Given the description of an element on the screen output the (x, y) to click on. 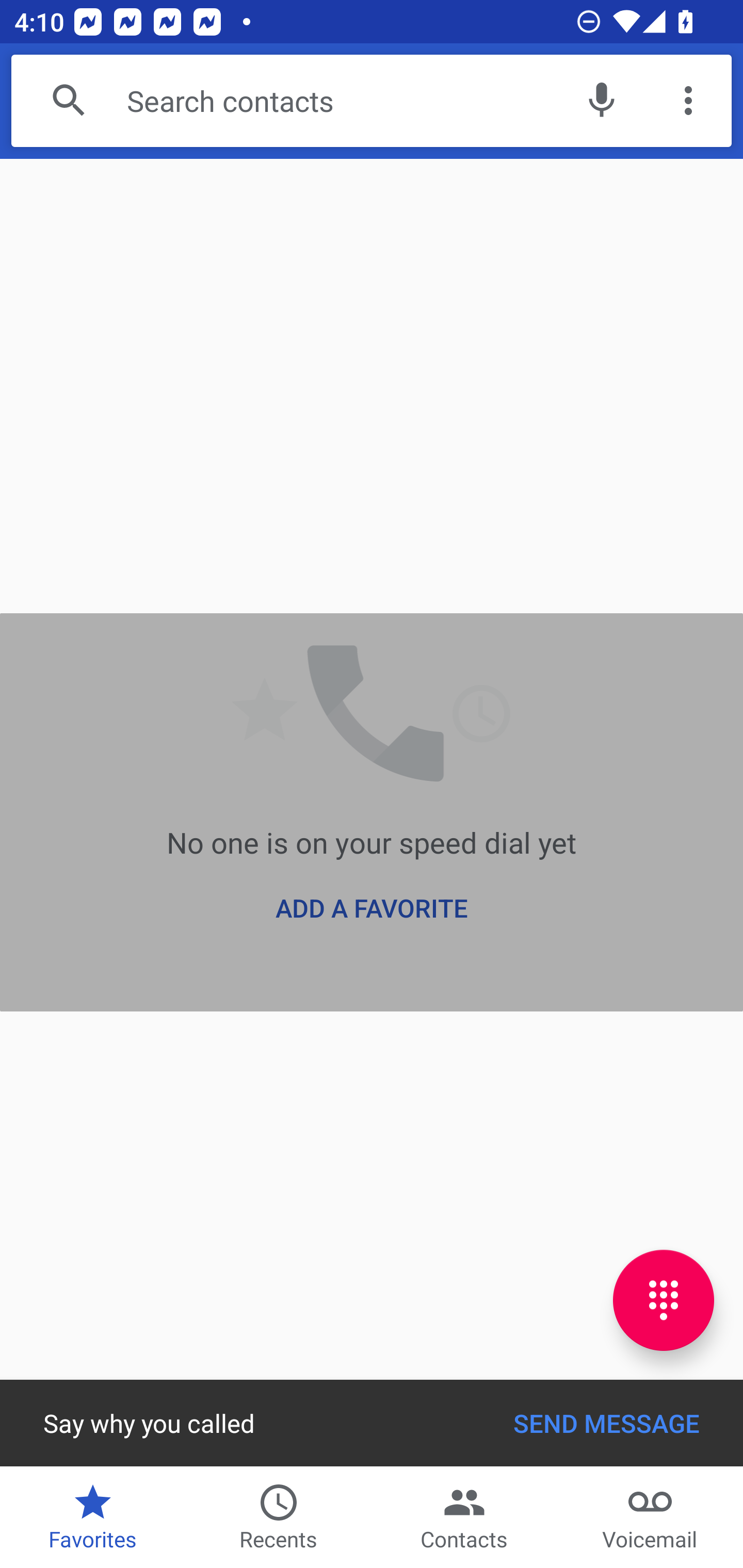
Search contacts Start voice search More options (371, 100)
Start voice search (600, 101)
More options (687, 101)
No one is on your speed dial yet ADD A FAVORITE (371, 812)
ADD A FAVORITE (371, 907)
key pad (663, 1300)
Say why you called SEND MESSAGE (371, 1422)
SEND MESSAGE (606, 1422)
Favorites (92, 1517)
Recents (278, 1517)
Contacts (464, 1517)
Voicemail (650, 1517)
